Given the description of an element on the screen output the (x, y) to click on. 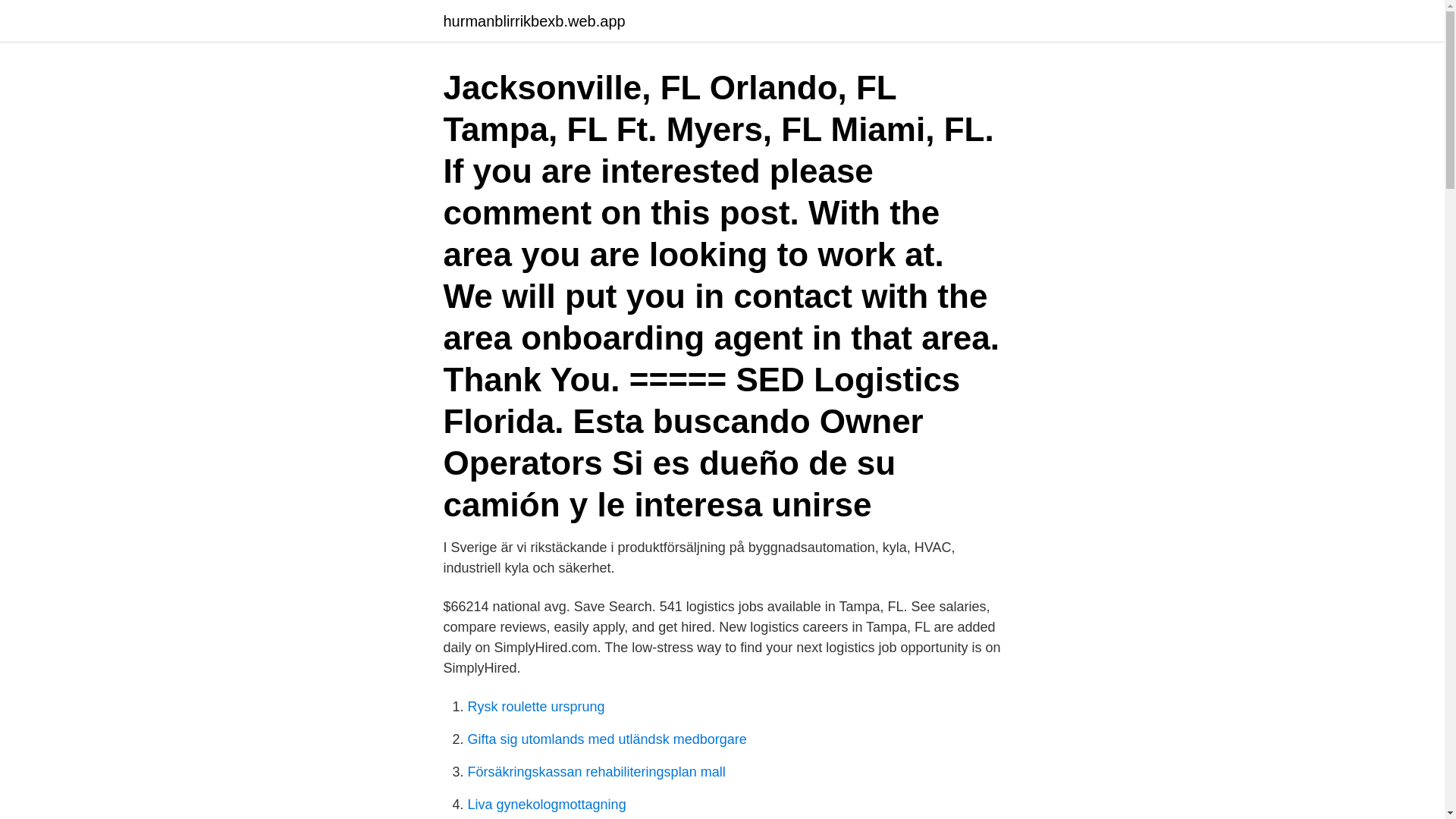
Rysk roulette ursprung (535, 706)
Liva gynekologmottagning (546, 804)
hurmanblirrikbexb.web.app (533, 20)
